Given the description of an element on the screen output the (x, y) to click on. 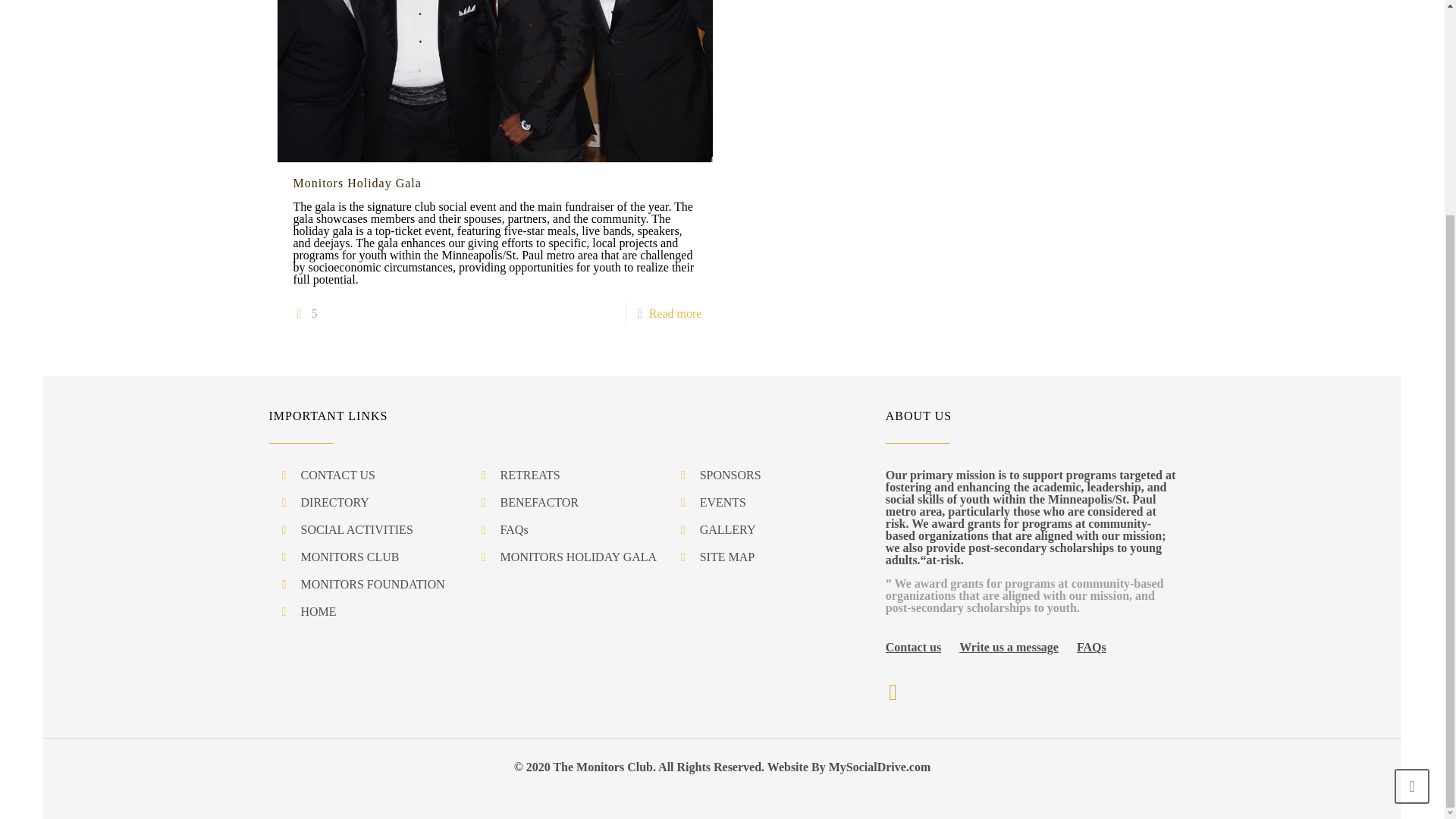
5 (304, 313)
Read more (675, 313)
Monitors Holiday Gala (356, 182)
